Given the description of an element on the screen output the (x, y) to click on. 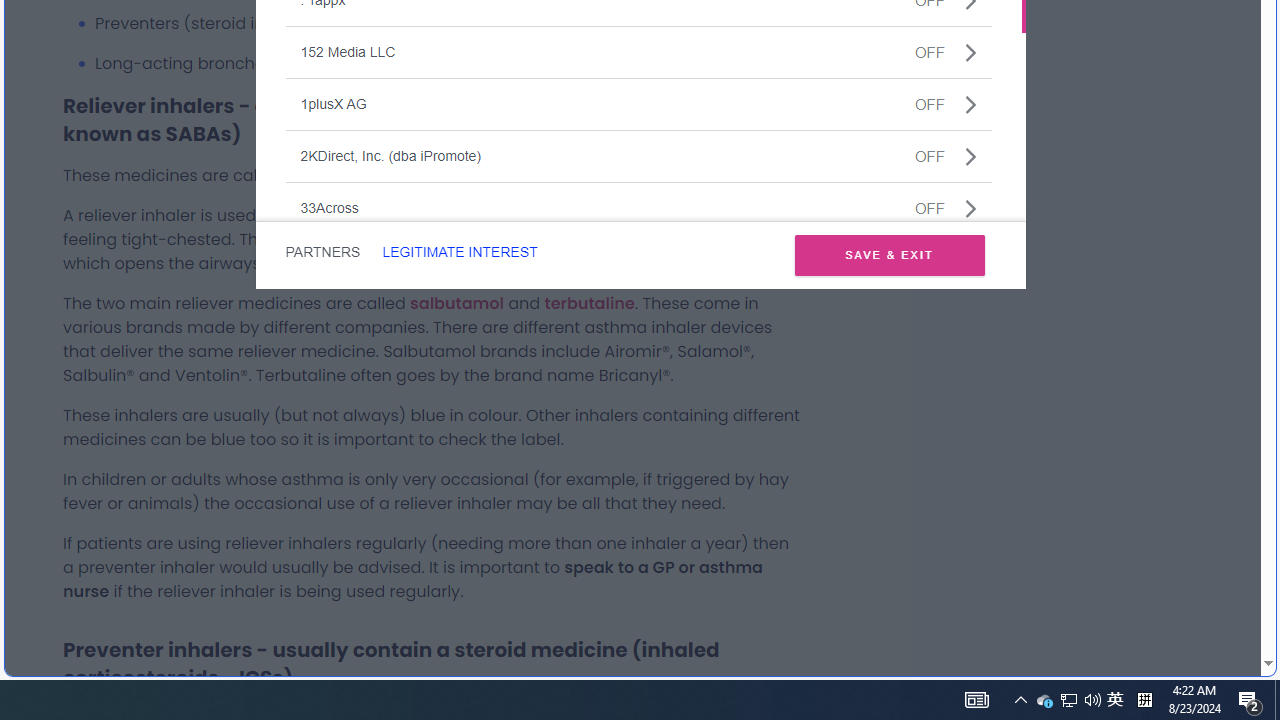
terbutaline (589, 302)
2KDirect, Inc. (dba iPromote)OFF (638, 155)
33AcrossOFF (638, 208)
Long-acting bronchodilators. (448, 63)
1plusX AGOFF (638, 103)
SAVE & EXIT (889, 254)
LEGITIMATE INTEREST (459, 251)
152 Media LLCOFF (638, 52)
PARTNERS (322, 251)
Preventers (steroid inhalers). (448, 23)
Class: css-jswnc6 (969, 208)
salbutamol (456, 302)
